Given the description of an element on the screen output the (x, y) to click on. 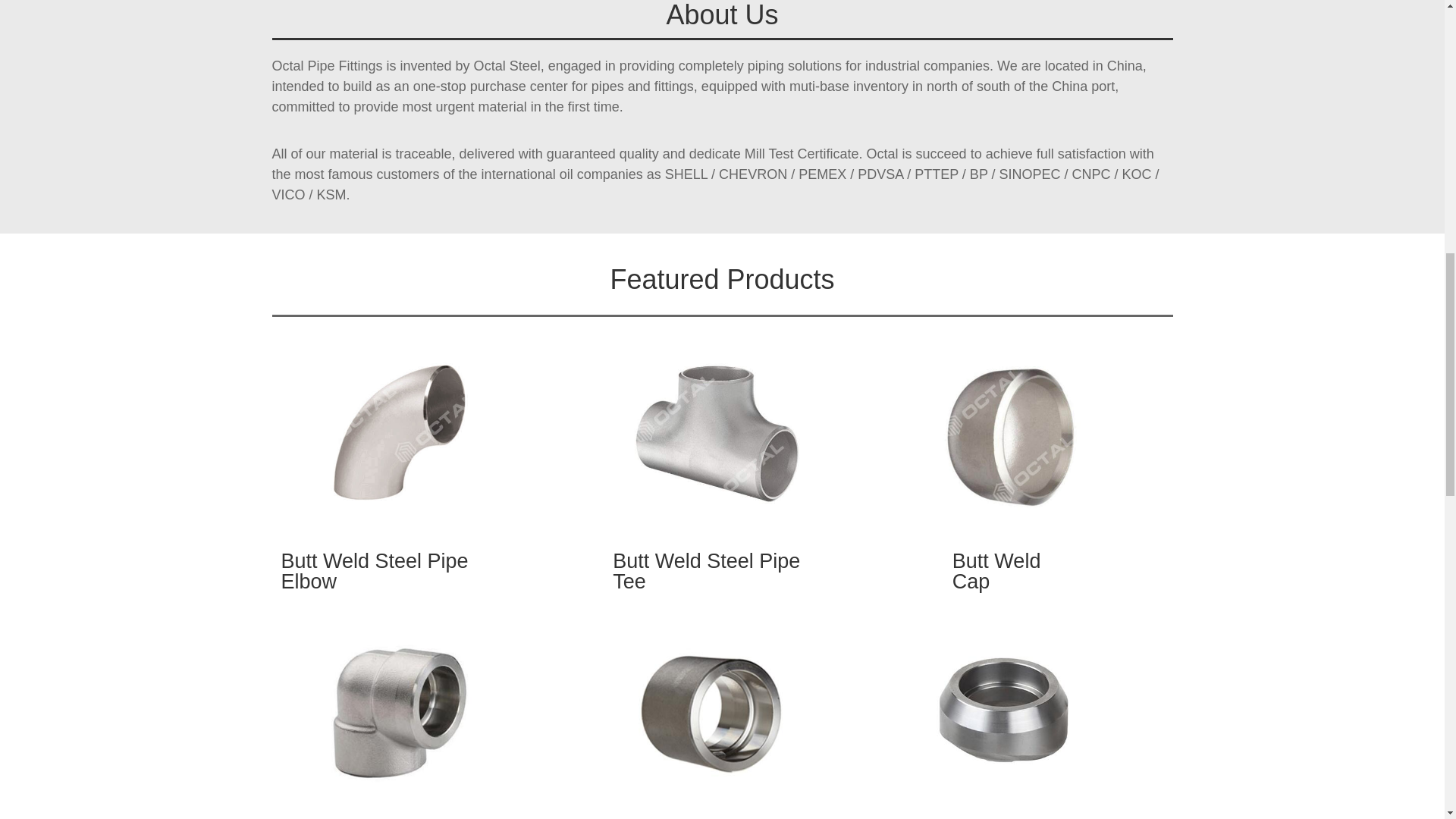
steel pipe cap butt weld (1016, 426)
steel pipe elbow butt weld - Octal (407, 426)
sockolet (1005, 706)
socket weld steel coupling (716, 706)
forged socket weld elblow 90 degree (395, 706)
steel pipe tee butt weld (727, 426)
